Given the description of an element on the screen output the (x, y) to click on. 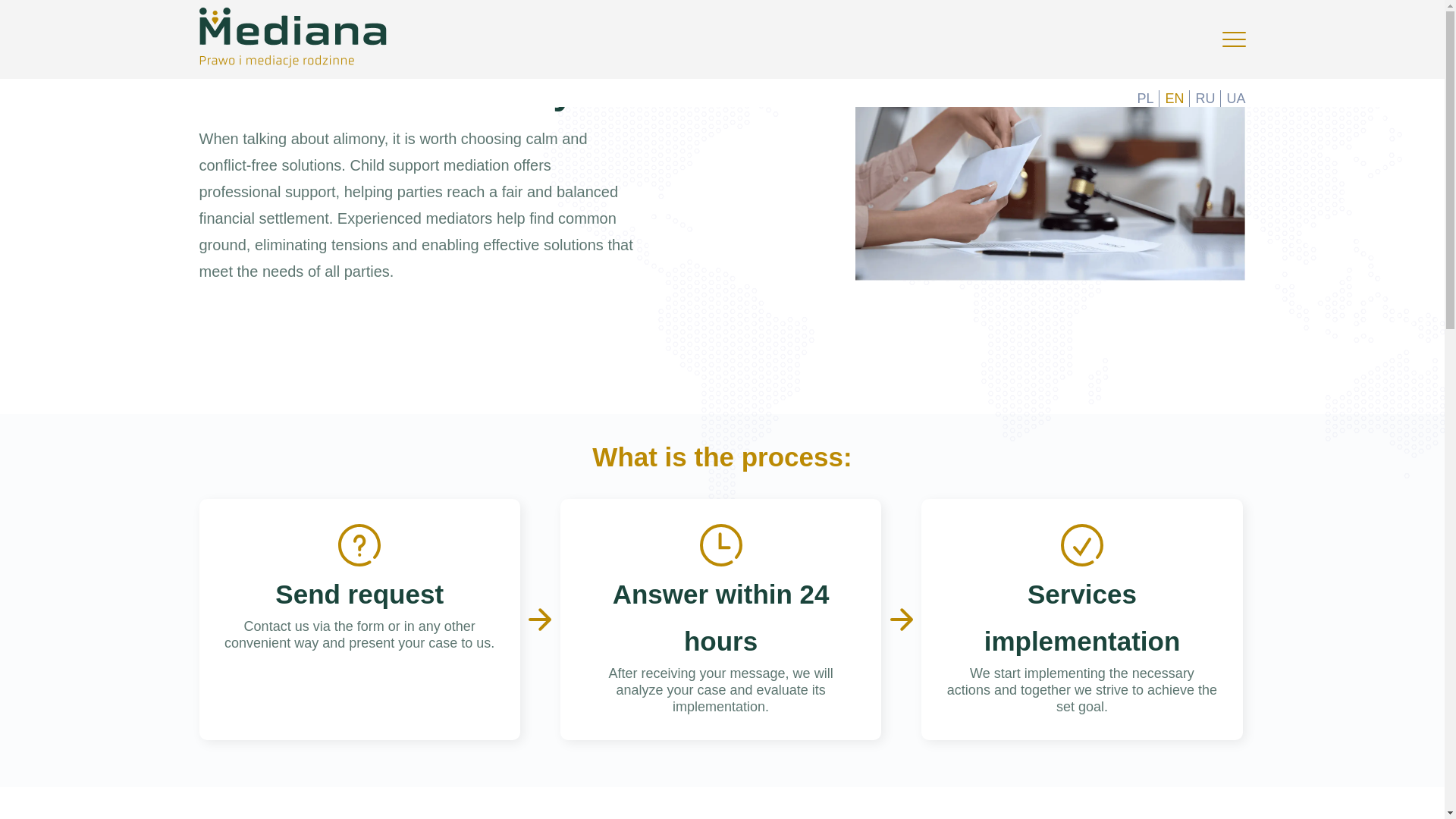
Alimony (224, 48)
PL (1145, 98)
UA (1234, 98)
RU (1204, 98)
EN (1173, 98)
